Given the description of an element on the screen output the (x, y) to click on. 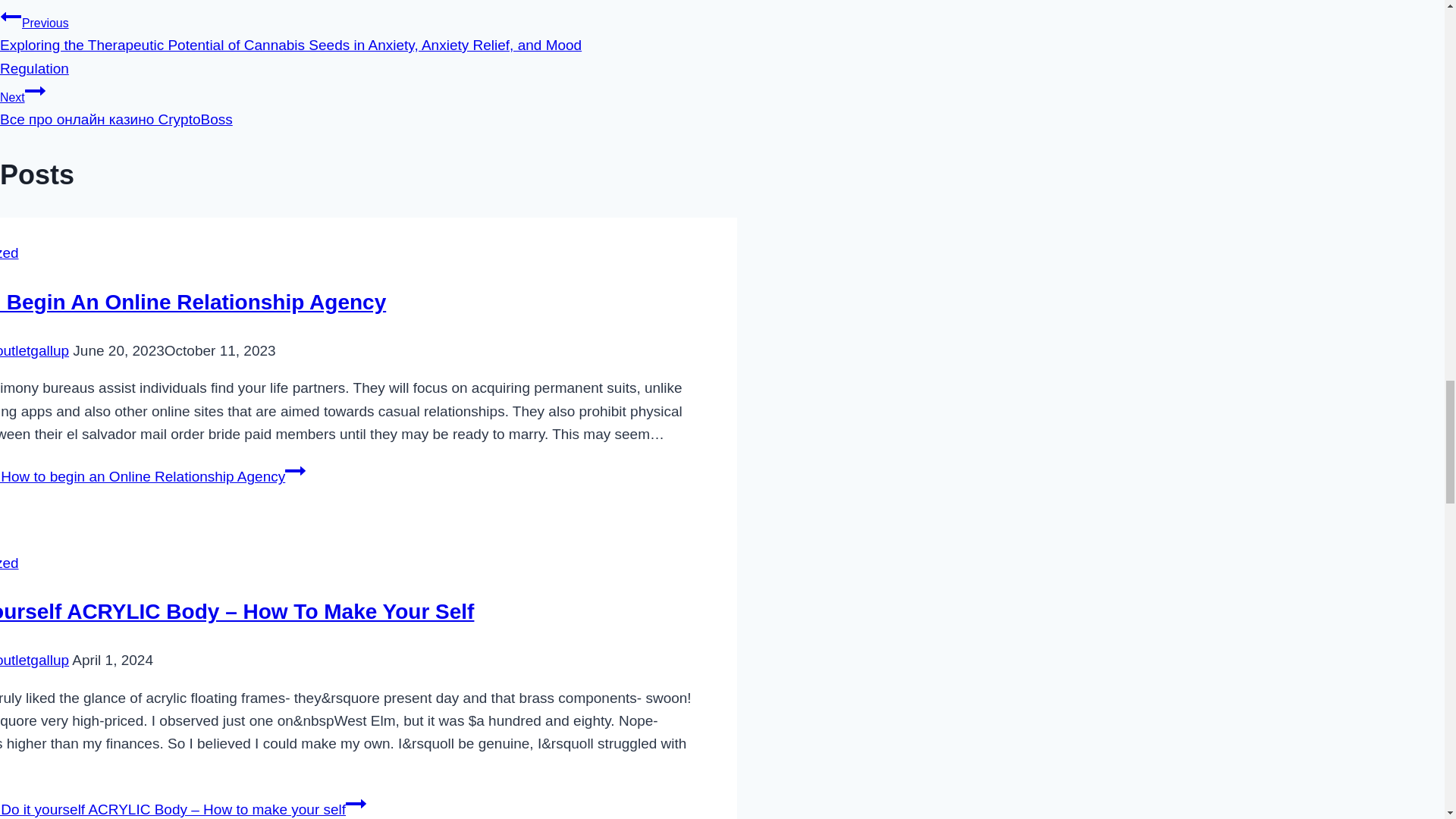
Continue (356, 803)
Read More How to begin an Online Relationship AgencyContinue (152, 476)
Previous (10, 16)
Uncategorized (9, 562)
Uncategorized (9, 252)
furnitureoutletgallup (34, 659)
Continue (34, 90)
How To Begin An Online Relationship Agency (192, 301)
Continue (295, 470)
furnitureoutletgallup (34, 350)
